Given the description of an element on the screen output the (x, y) to click on. 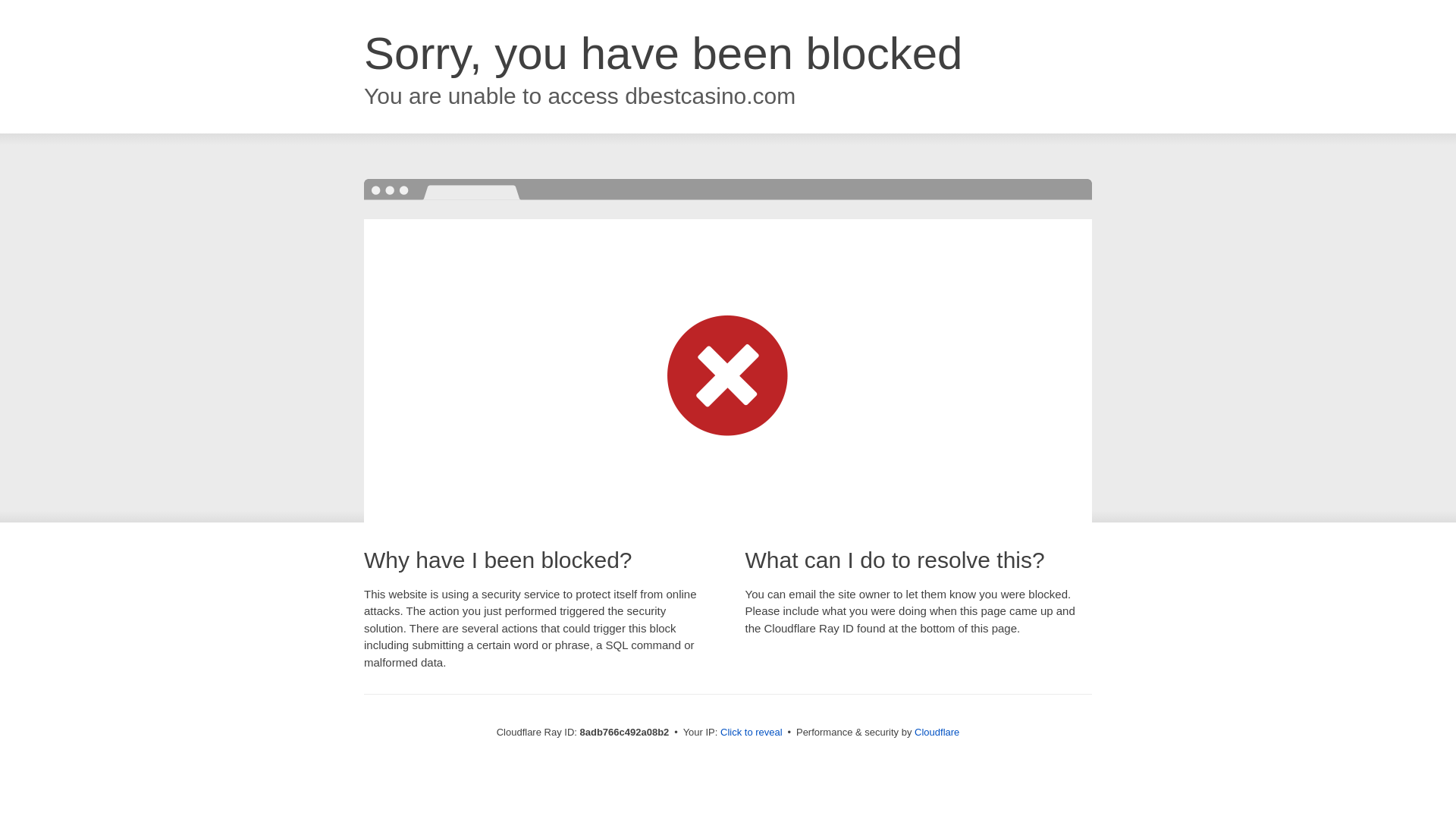
Click to reveal (751, 732)
Cloudflare (936, 731)
